Given the description of an element on the screen output the (x, y) to click on. 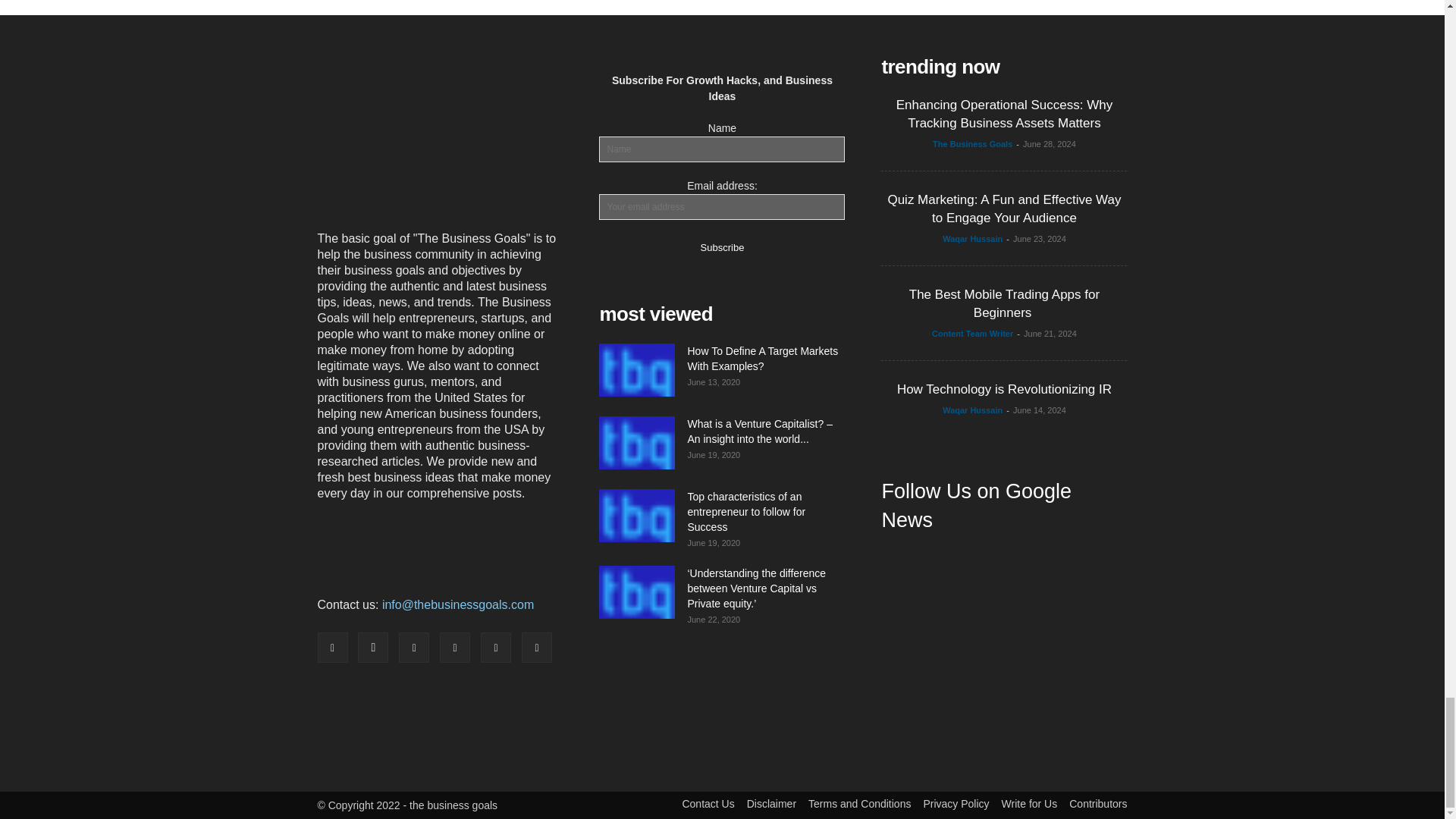
Subscribe (721, 246)
